Given the description of an element on the screen output the (x, y) to click on. 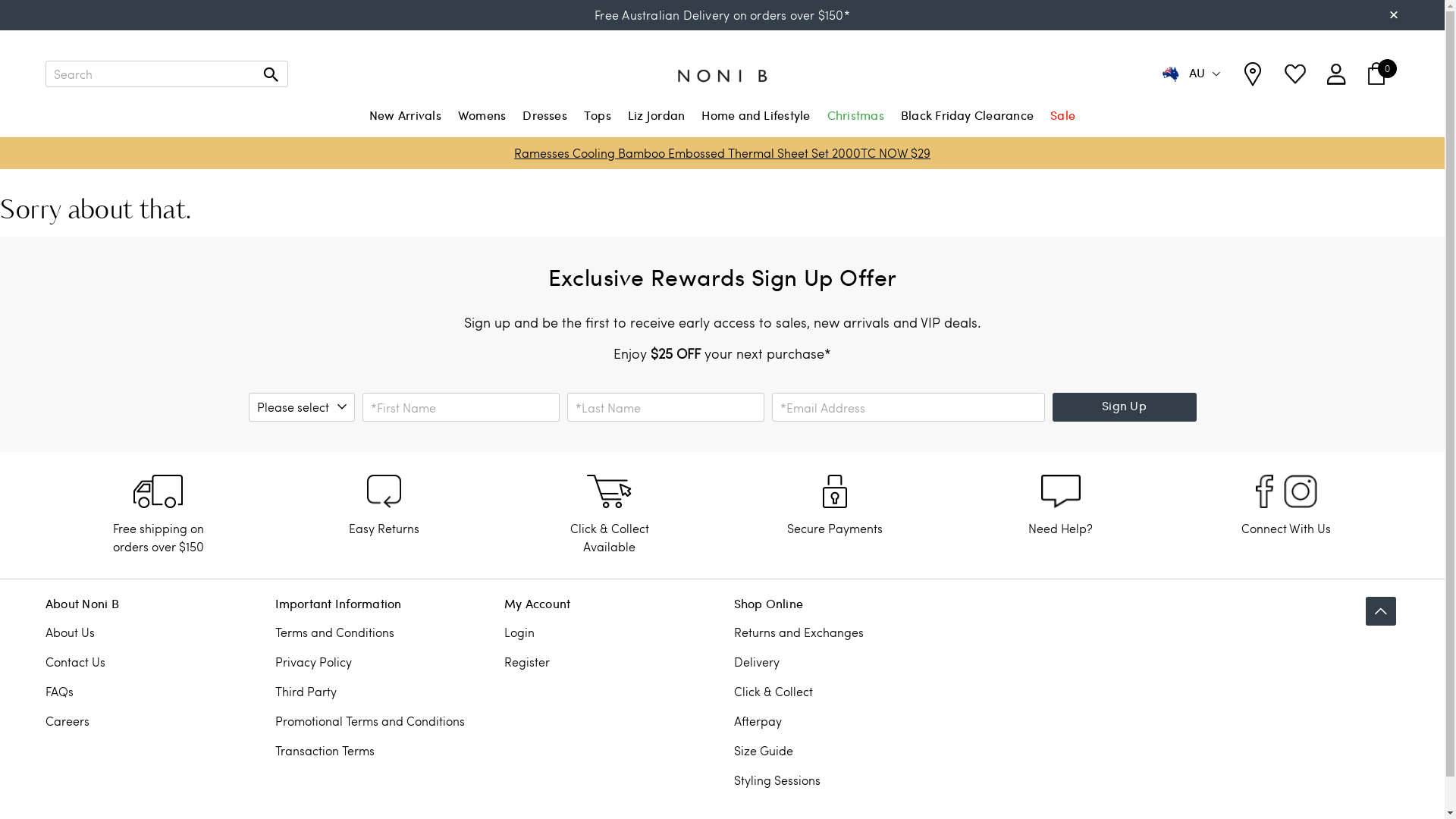
Click & Collect Element type: text (773, 691)
Sign Up Element type: text (1124, 406)
Styling Sessions Element type: text (777, 779)
Returns and Exchanges Element type: text (798, 632)
Transaction Terms Element type: text (323, 750)
Secure Payments Element type: text (834, 528)
Black Friday Clearance Element type: text (966, 123)
Free shipping on orders over $150 Element type: text (157, 537)
Dresses Element type: text (544, 123)
Click and Collect Element type: hover (609, 491)
Careers Element type: text (67, 720)
0 Element type: text (1376, 73)
Contact Us Element type: text (75, 661)
Login Element type: text (519, 632)
Home and Lifestyle Element type: text (755, 123)
Afterpay Element type: text (757, 720)
Noni B Facebook Element type: hover (1264, 491)
Liz Jordan Element type: text (655, 123)
Noni B Element type: hover (722, 73)
Third Party Element type: text (304, 691)
Returns Element type: hover (383, 491)
Free Australian Delivery on orders over $150* Element type: text (721, 14)
Wishlist Element type: text (1294, 73)
About Us Element type: text (69, 632)
Promotional Terms and Conditions Element type: text (369, 720)
Need Help? Element type: text (1060, 528)
contact us Element type: hover (1060, 491)
Terms and Conditions Element type: text (333, 632)
Privacy Policy Element type: text (312, 661)
Tops Element type: text (597, 123)
Delivery Element type: text (756, 661)
FAQs Element type: text (59, 691)
Back to top Element type: hover (1380, 610)
Login Element type: text (1335, 73)
faqs Element type: hover (834, 491)
Size Guide Element type: text (763, 750)
Christmas Element type: text (855, 123)
Noni B Instagram Element type: hover (1300, 491)
New Arrivals Element type: text (405, 123)
Easy Returns Element type: text (383, 528)
Womens Element type: text (481, 123)
Click & Collect Available Element type: text (609, 537)
Register Element type: text (526, 661)
Sale Element type: text (1062, 123)
